Given the description of an element on the screen output the (x, y) to click on. 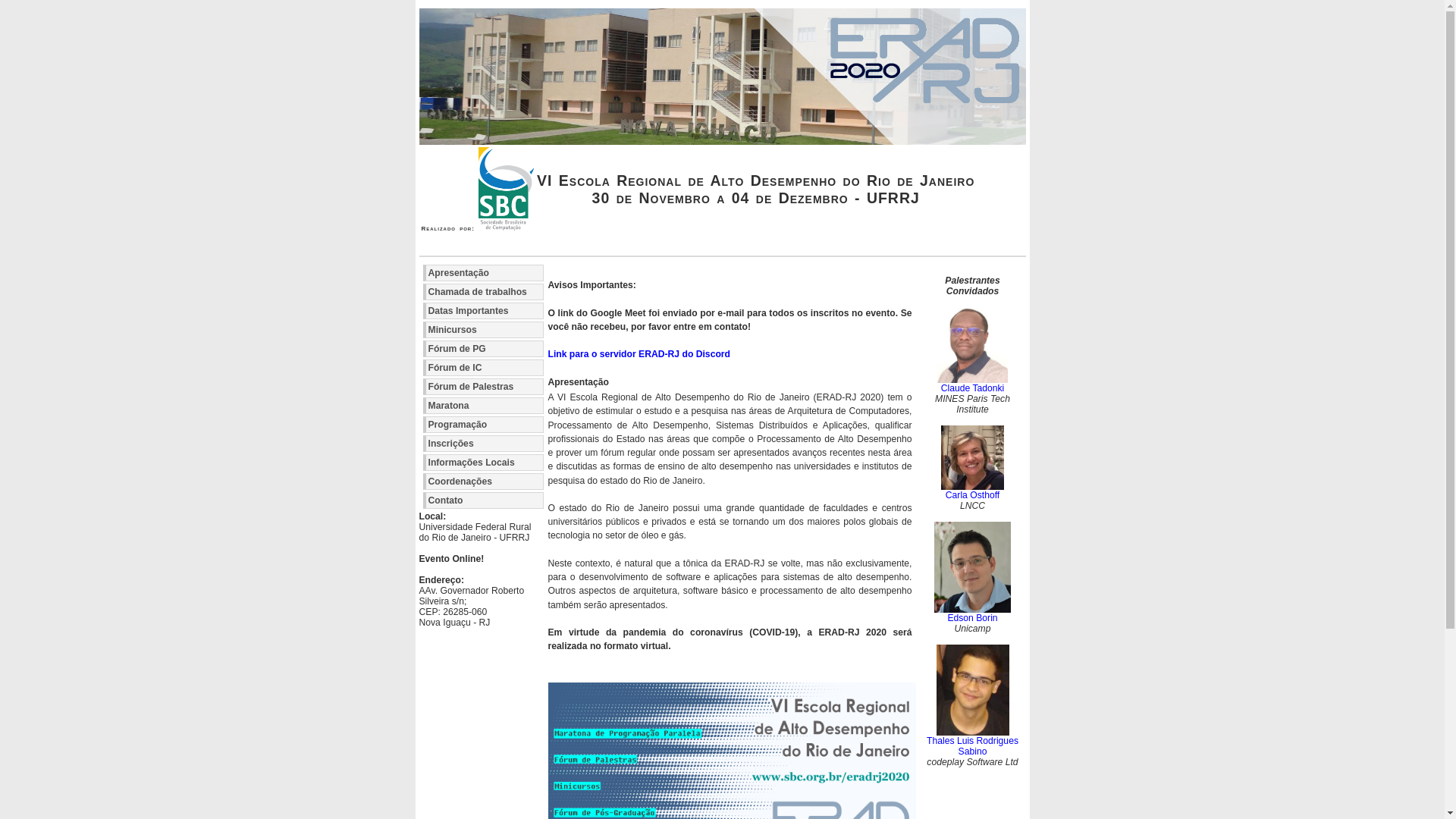
Minicursos Element type: text (483, 329)
Datas Importantes Element type: text (483, 310)
Link para o servidor ERAD-RJ do Discord Element type: text (638, 353)
Carla Osthoff Element type: text (972, 494)
Claude Tadonki Element type: text (972, 387)
Chamada de trabalhos Element type: text (483, 291)
Maratona Element type: text (483, 405)
Edson Borin Element type: text (972, 617)
Thales Luis Rodrigues Sabino Element type: text (972, 745)
Contato Element type: text (483, 500)
